Given the description of an element on the screen output the (x, y) to click on. 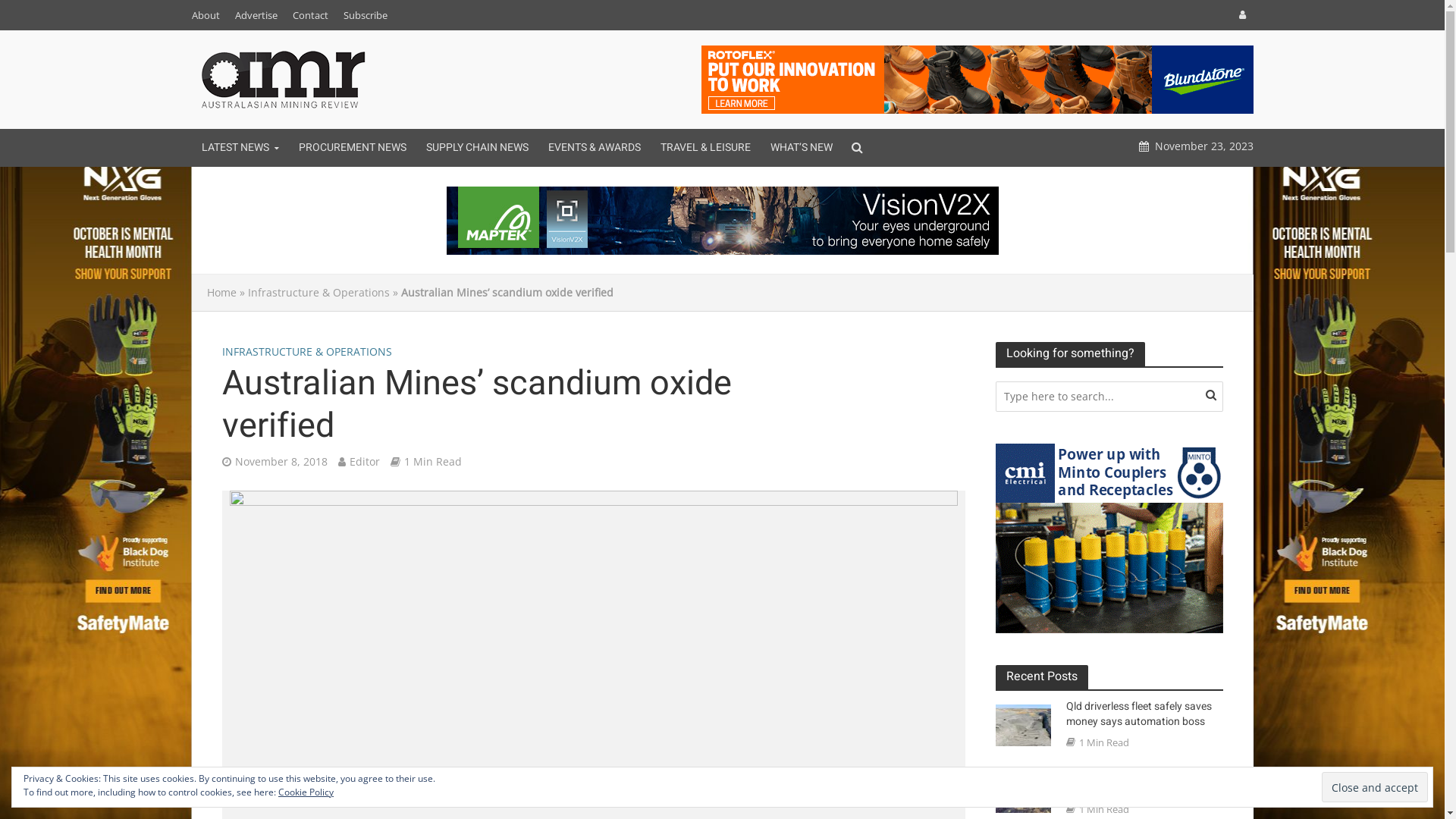
Qld driverless fleet safely saves money says automation boss Element type: text (1146, 713)
Qld driverless fleet safely saves money says automation boss Element type: hover (1022, 723)
About Element type: text (208, 15)
Advertise Element type: text (256, 15)
LATEST NEWS Element type: text (239, 147)
TRAVEL & LEISURE Element type: text (705, 147)
Close and accept Element type: text (1374, 786)
Contact Element type: text (310, 15)
INFRASTRUCTURE & OPERATIONS Element type: text (306, 353)
Qld mine reopening secures funding Element type: text (1146, 780)
EVENTS & AWARDS Element type: text (594, 147)
Qld mine reopening secures funding Element type: hover (1022, 790)
Infrastructure & Operations Element type: text (318, 292)
Subscribe Element type: text (364, 15)
Cookie Policy Element type: text (305, 791)
PROCUREMENT NEWS Element type: text (351, 147)
Editor Element type: text (363, 462)
SUPPLY CHAIN NEWS Element type: text (476, 147)
Home Element type: text (220, 292)
